Given the description of an element on the screen output the (x, y) to click on. 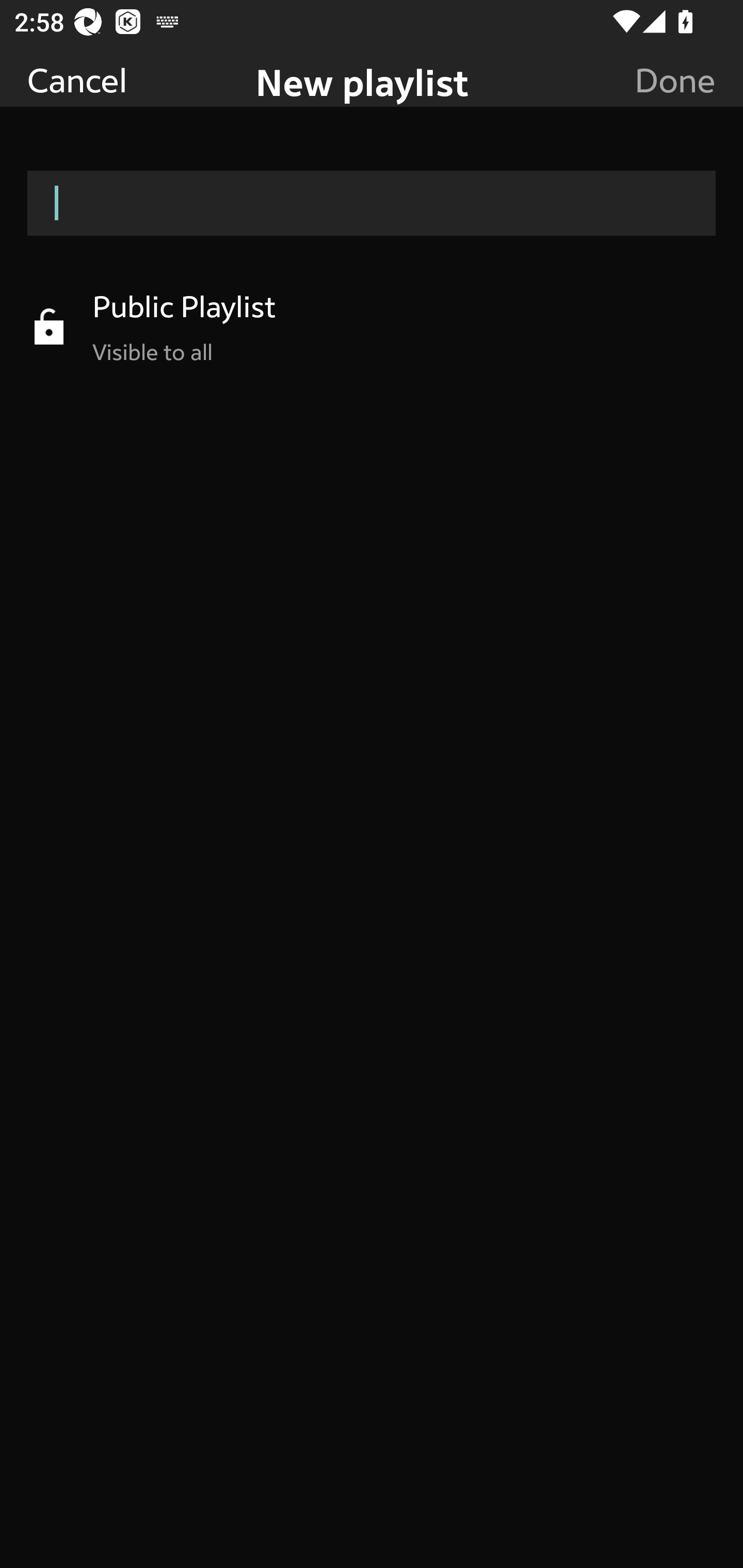
Cancel New playlist Done (371, 53)
Cancel (77, 79)
Done (675, 79)
Public Playlist Visible to all (371, 326)
